Given the description of an element on the screen output the (x, y) to click on. 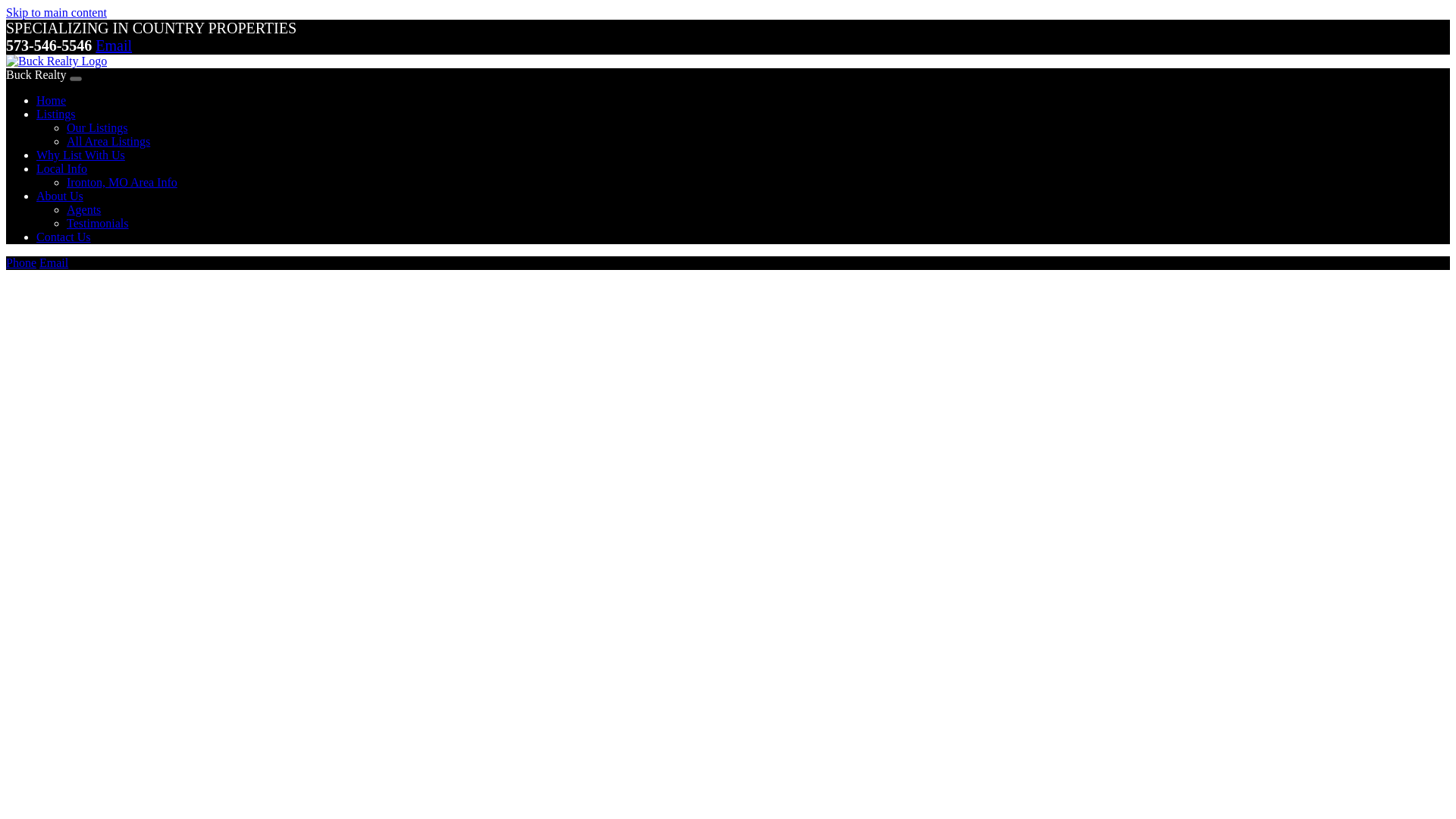
Local Info (61, 168)
Our Listings (97, 127)
Agents (83, 209)
Why List With Us (80, 154)
Contact Us (63, 236)
Ironton, MO Area Info (121, 182)
Testimonials (97, 223)
All Area Listings (107, 141)
About Us (59, 195)
Email (114, 45)
